Given the description of an element on the screen output the (x, y) to click on. 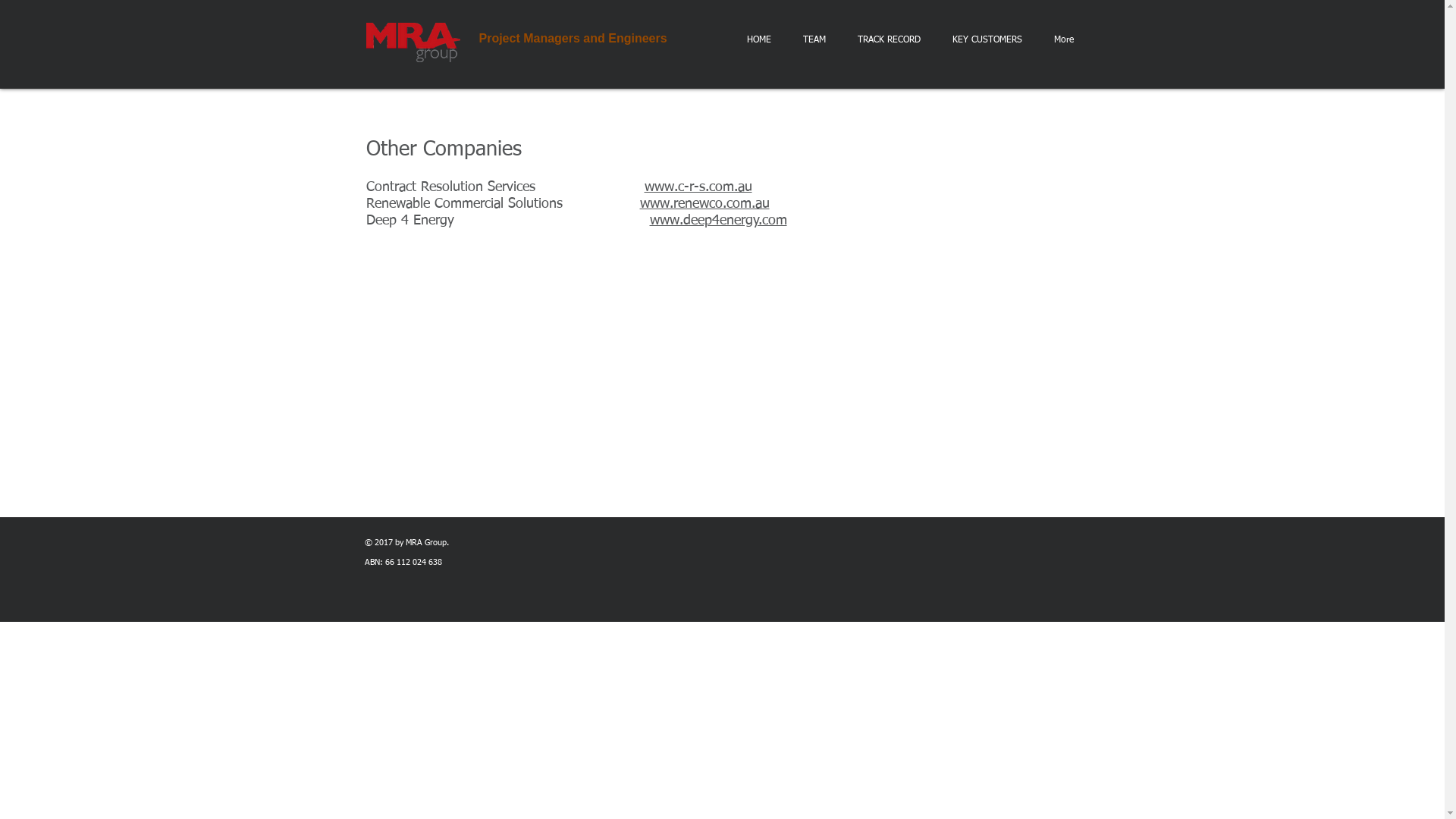
Transparent MRA logo.png Element type: hover (412, 42)
TEAM Element type: text (814, 40)
HOME Element type: text (759, 40)
KEY CUSTOMERS Element type: text (986, 40)
www.deep4energy.com Element type: text (717, 220)
www.c-r-s.com.au Element type: text (698, 187)
www.renewco.com.au Element type: text (704, 203)
TRACK RECORD Element type: text (888, 40)
